Given the description of an element on the screen output the (x, y) to click on. 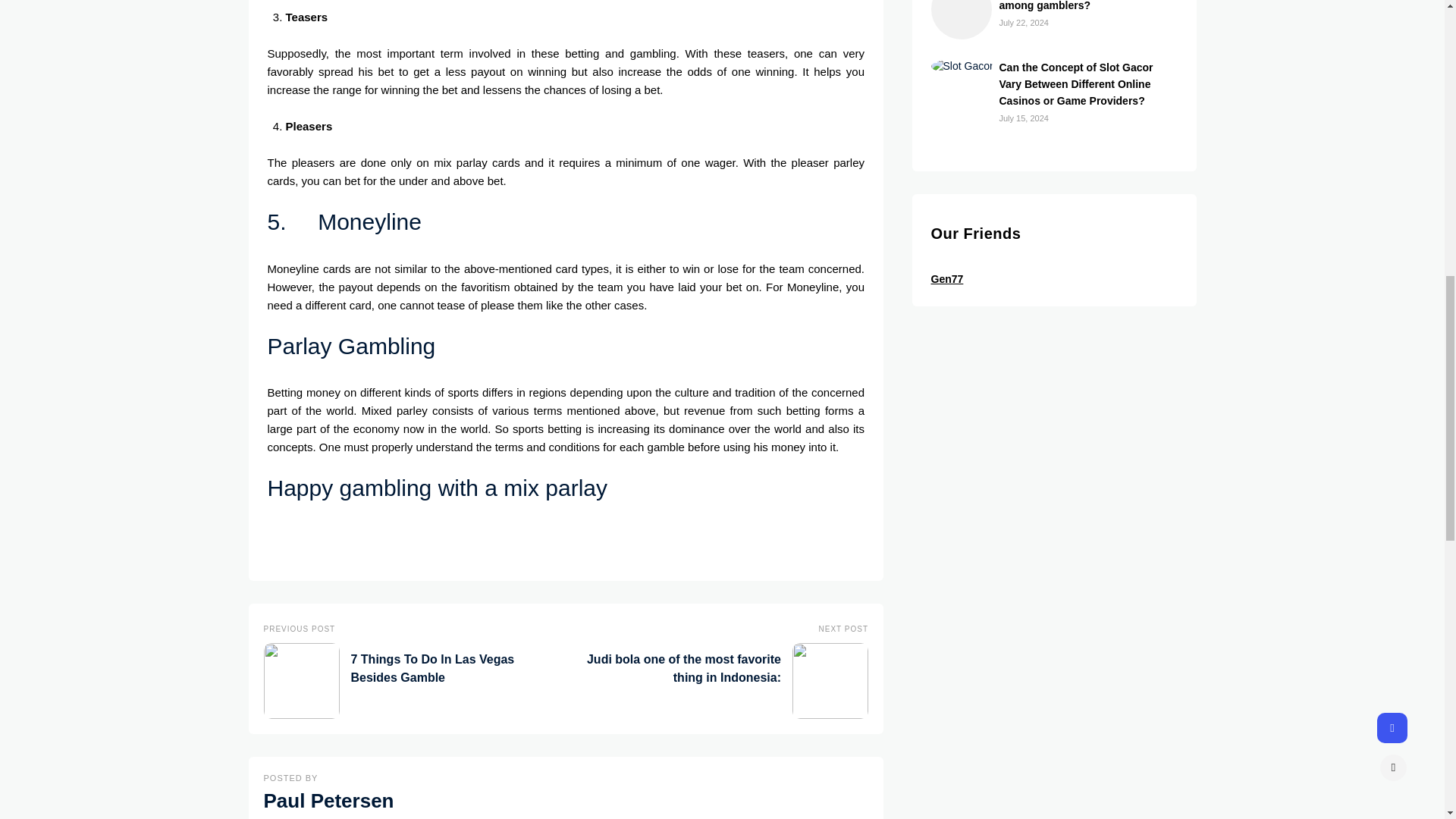
Why online slots are so popular among gamblers? (1079, 5)
Gen77 (947, 278)
Paul Petersen (328, 800)
Judi bola one of the most favorite thing in Indonesia: (723, 683)
7 Things To Do In Las Vegas Besides Gamble (407, 683)
